Given the description of an element on the screen output the (x, y) to click on. 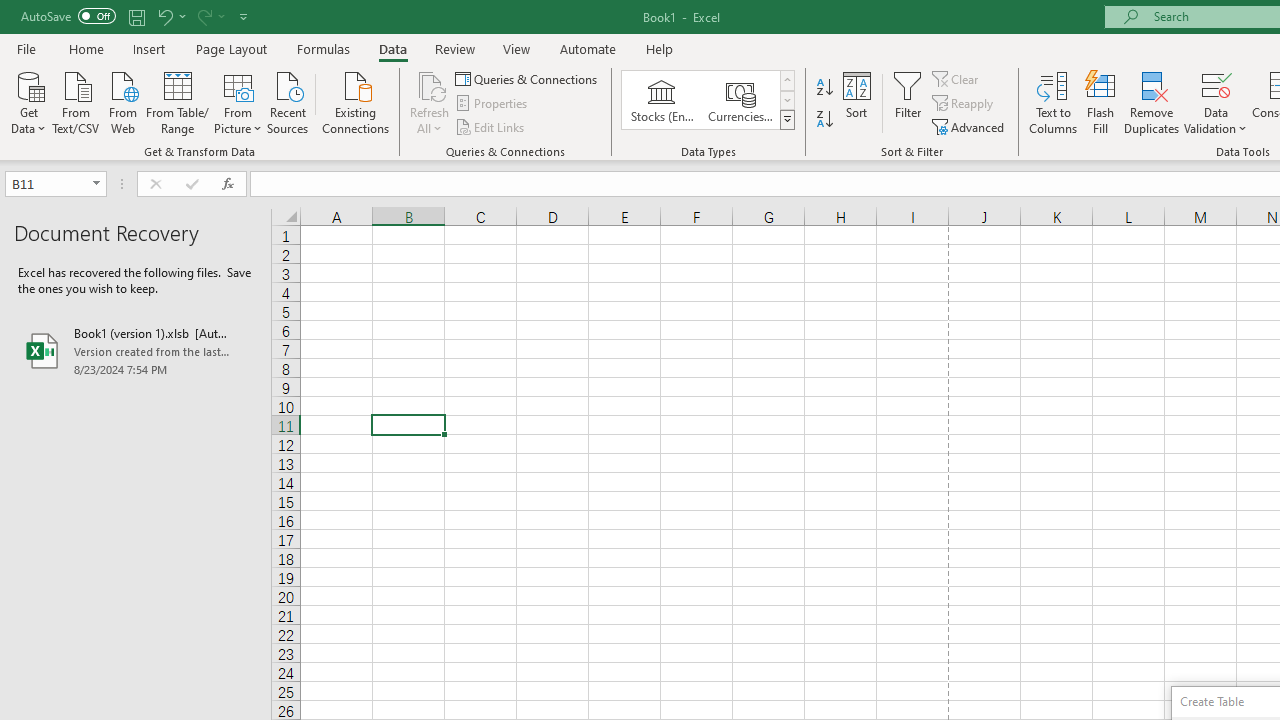
Text to Columns... (1053, 102)
Data Types (786, 120)
From Table/Range (177, 101)
Stocks (English) (662, 100)
Queries & Connections (527, 78)
AutomationID: ConvertToLinkedEntity (708, 99)
Properties (492, 103)
